Given the description of an element on the screen output the (x, y) to click on. 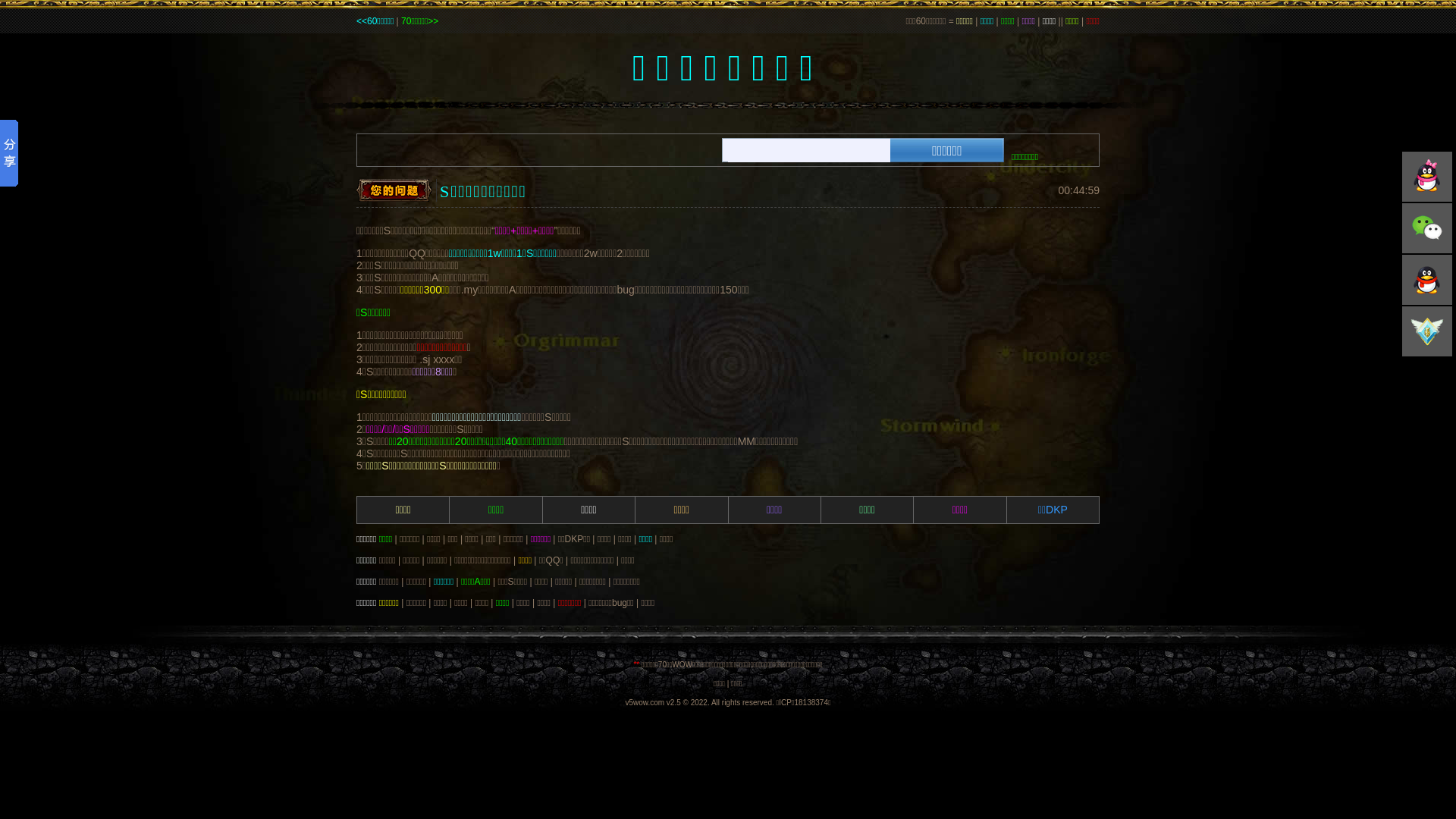
QQ Element type: text (1427, 176)
